Given the description of an element on the screen output the (x, y) to click on. 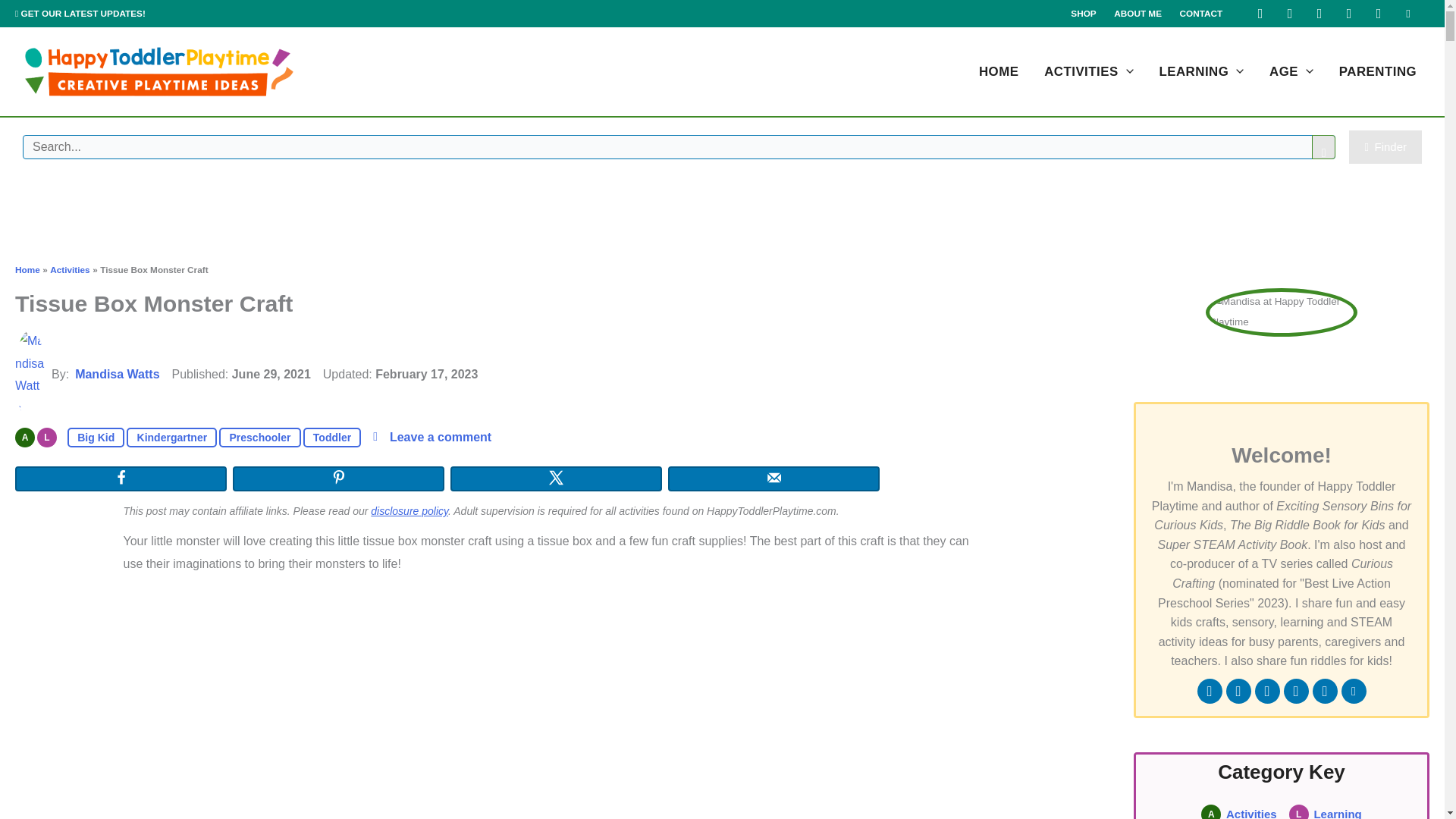
Instagram (1289, 13)
Posts by Mandisa Watts (116, 373)
HOME (998, 70)
PARENTING (1377, 70)
Pinterest (1319, 13)
Facebook (1260, 13)
Etsy (1408, 13)
ACTIVITIES (1087, 70)
SHOP (1083, 13)
LEARNING (1202, 70)
